Given the description of an element on the screen output the (x, y) to click on. 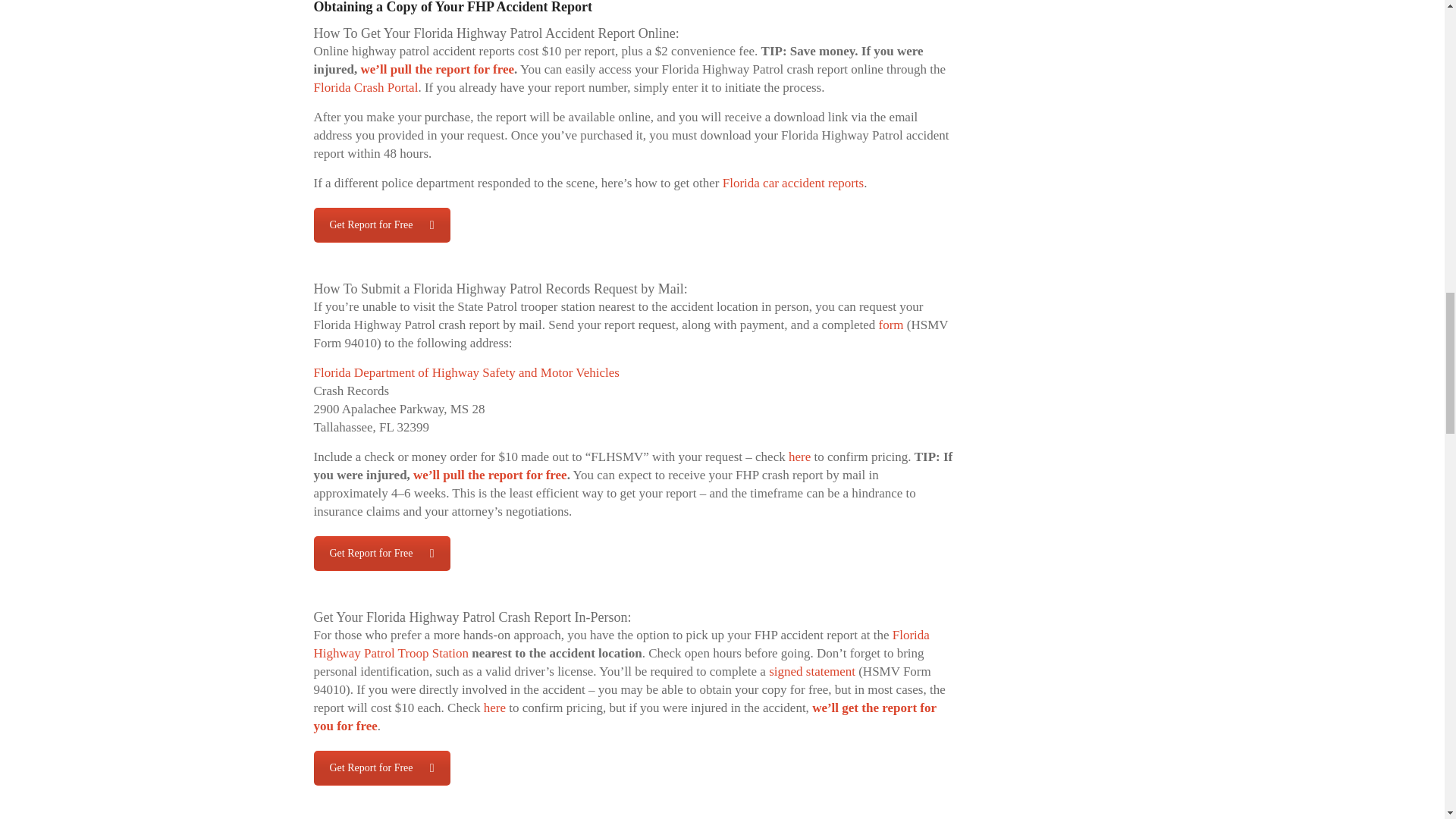
Contact Us (381, 553)
Contact Us (381, 768)
Contact Us (381, 225)
